Given the description of an element on the screen output the (x, y) to click on. 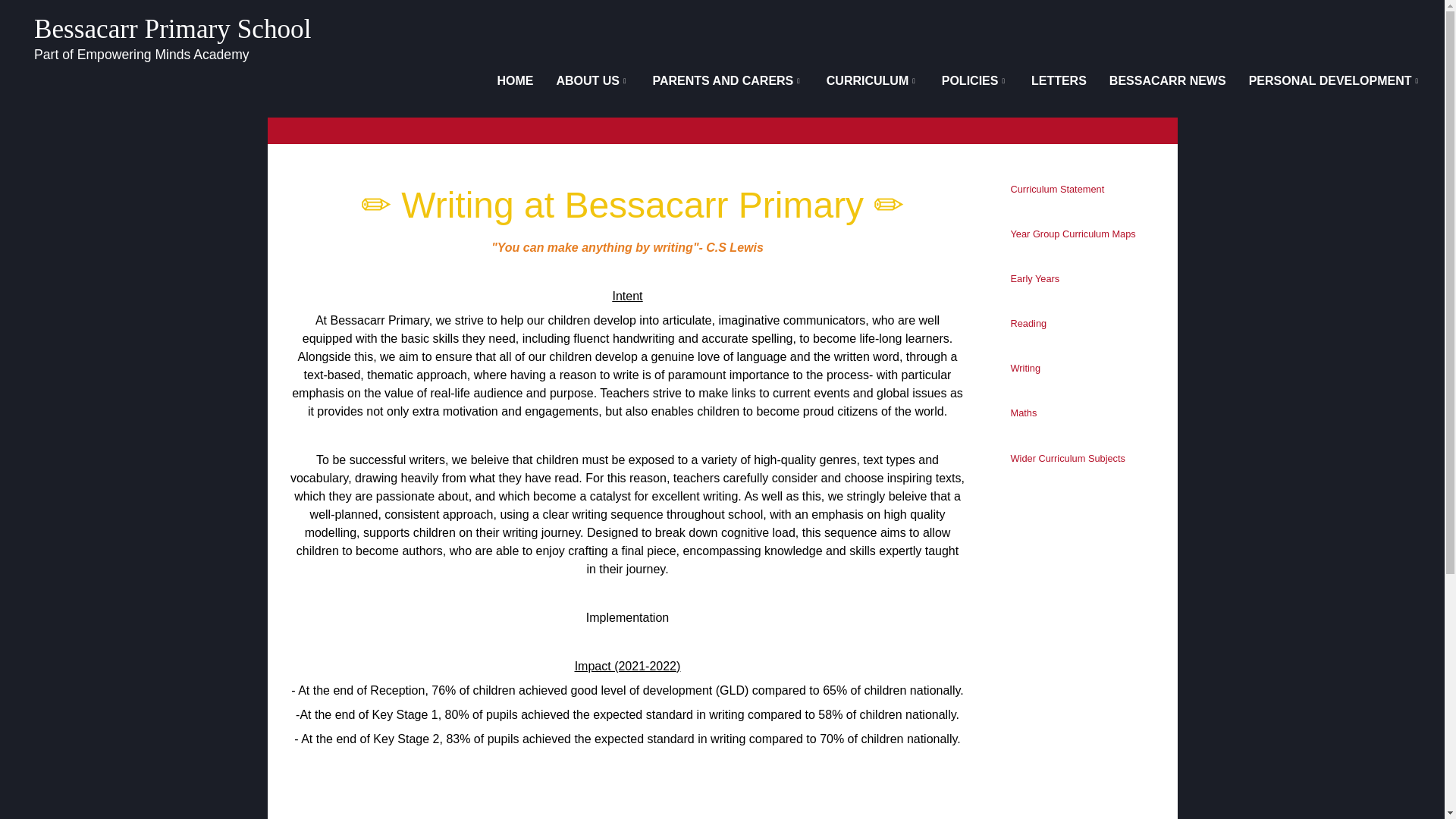
HOME (514, 80)
ABOUT US (592, 80)
PARENTS AND CARERS (726, 80)
